Given the description of an element on the screen output the (x, y) to click on. 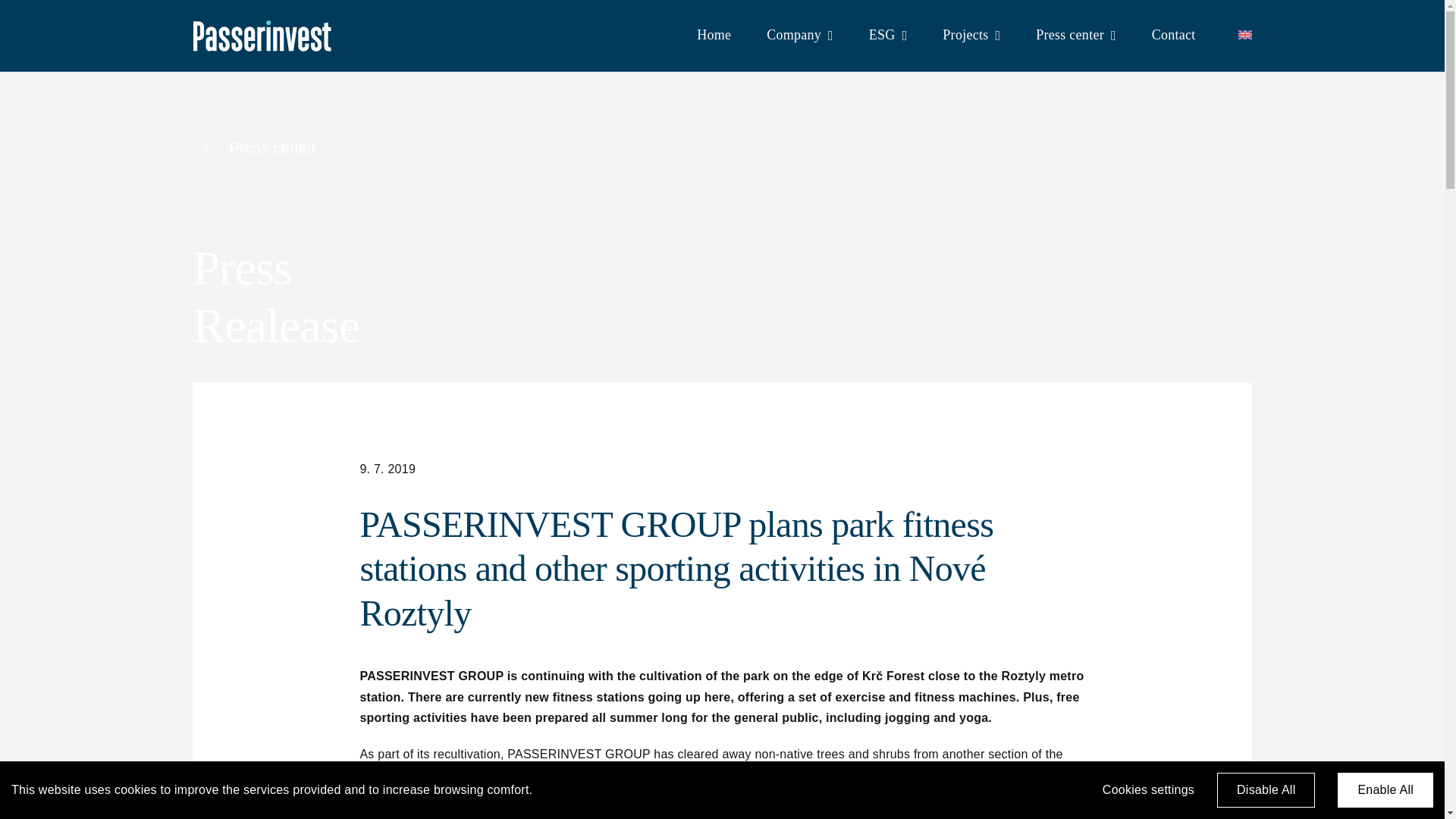
Projects (961, 35)
Company (790, 35)
Company (790, 35)
